Given the description of an element on the screen output the (x, y) to click on. 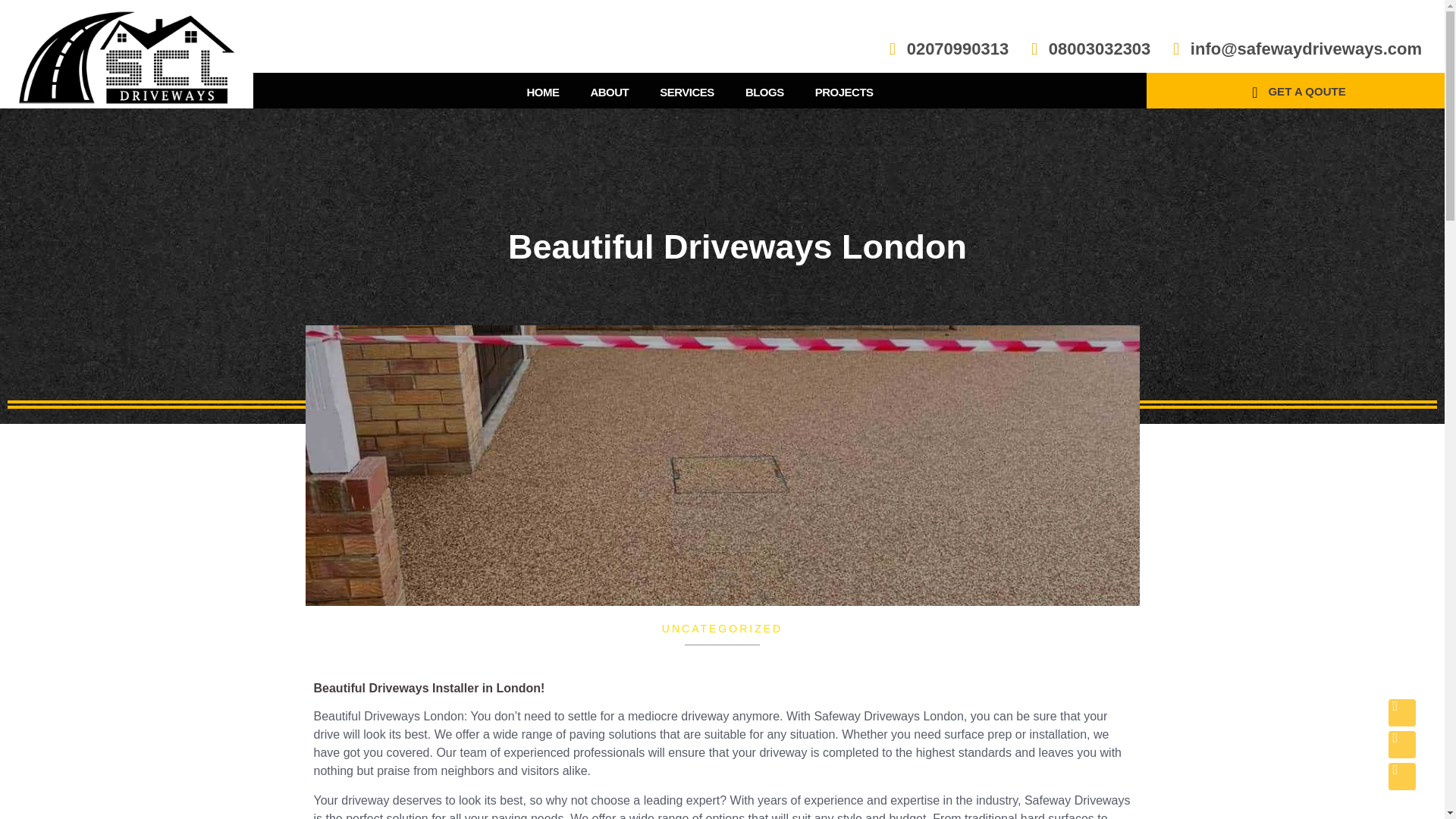
08003032303 (1086, 48)
SERVICES (687, 92)
02070990313 (945, 48)
BLOGS (764, 92)
PROJECTS (843, 92)
HOME (542, 92)
ABOUT (609, 92)
